Given the description of an element on the screen output the (x, y) to click on. 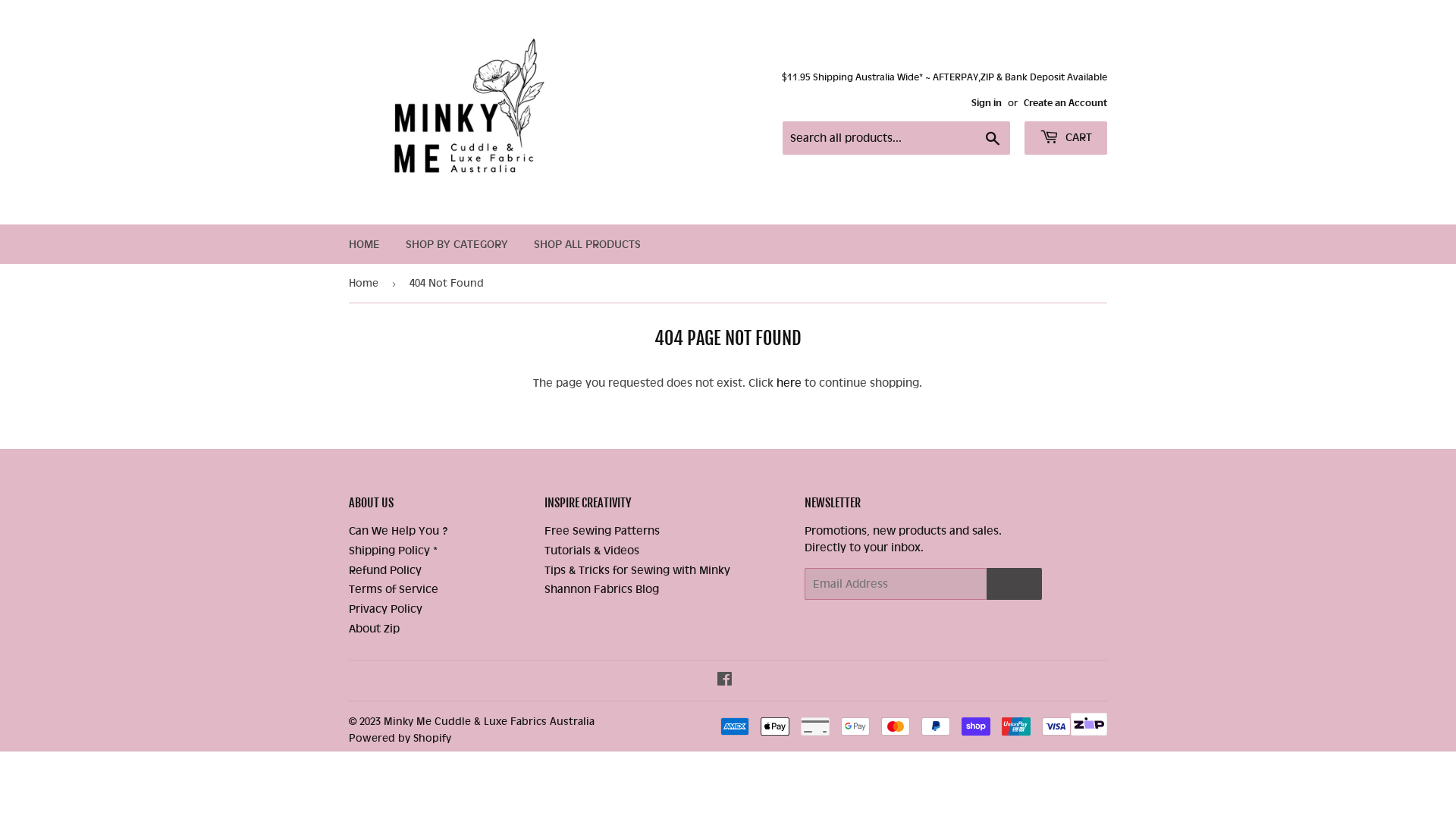
Can We Help You ? Element type: text (398, 530)
Free Sewing Patterns Element type: text (601, 530)
Minky Me Cuddle & Luxe Fabrics Australia Element type: text (488, 720)
Tips & Tricks for Sewing with Minky Element type: text (637, 569)
SHOP ALL PRODUCTS Element type: text (587, 243)
Search Element type: text (992, 138)
Create an Account Element type: text (1065, 102)
Privacy Policy Element type: text (385, 608)
Facebook Element type: text (723, 680)
SIGN UP Element type: text (1013, 583)
CART Element type: text (1065, 137)
About Zip Element type: text (373, 628)
Sign in Element type: text (986, 102)
Shannon Fabrics Blog Element type: text (601, 589)
Home Element type: text (365, 282)
Powered by Shopify Element type: text (399, 737)
Tutorials & Videos Element type: text (591, 550)
Shipping Policy * Element type: text (392, 550)
Refund Policy Element type: text (384, 569)
Terms of Service Element type: text (393, 589)
here Element type: text (788, 382)
SHOP BY CATEGORY Element type: text (456, 243)
HOME Element type: text (364, 243)
